Given the description of an element on the screen output the (x, y) to click on. 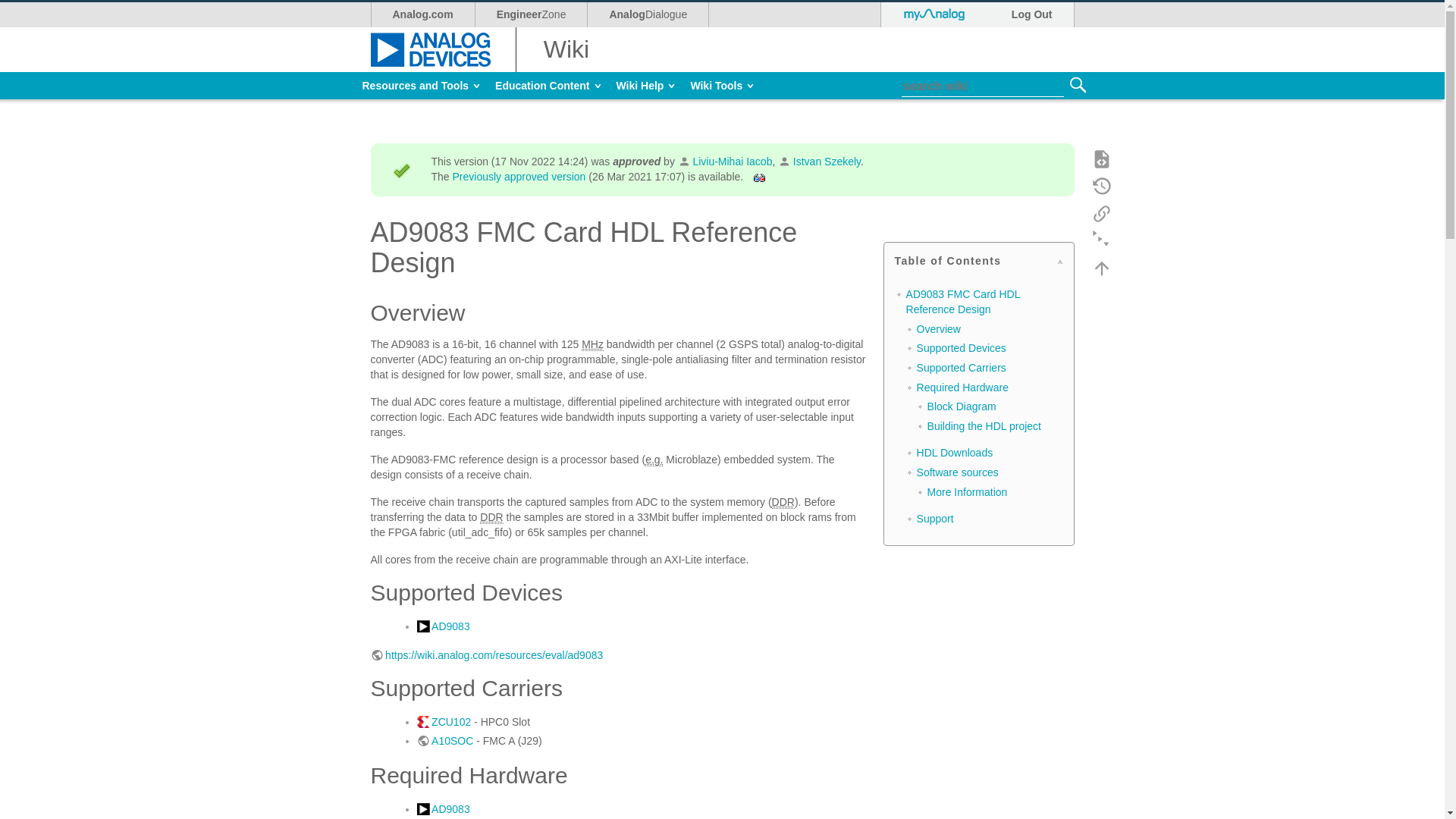
Wiki Tools (722, 85)
Search (1077, 85)
Wiki Help (647, 14)
Log Out (645, 85)
Education Content (1032, 14)
university:courses:tutorials:index (547, 85)
resources (531, 14)
